Given the description of an element on the screen output the (x, y) to click on. 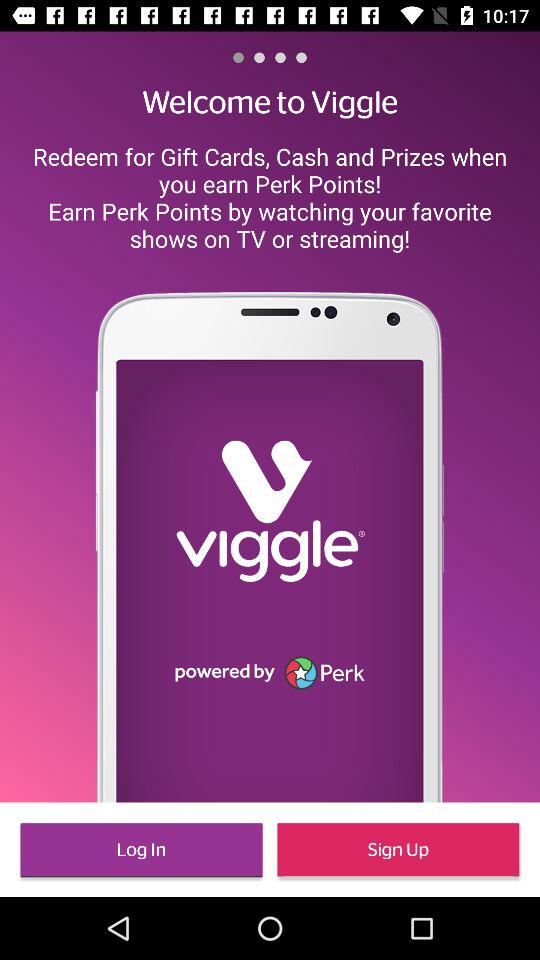
press the item above the welcome to viggle item (238, 57)
